Given the description of an element on the screen output the (x, y) to click on. 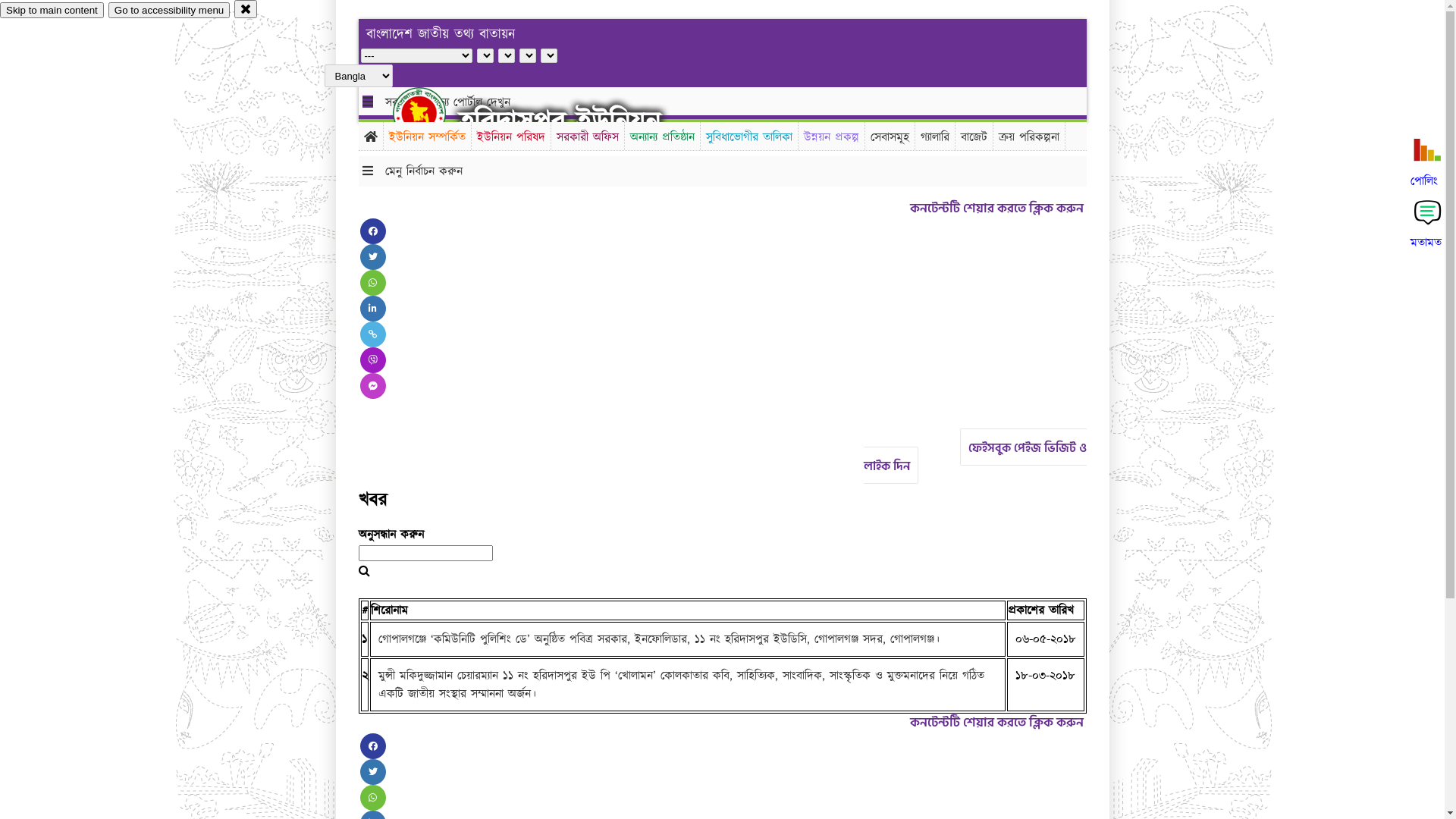

                
             Element type: hover (431, 112)
Skip to main content Element type: text (51, 10)
close Element type: hover (245, 9)
Go to accessibility menu Element type: text (168, 10)
